Given the description of an element on the screen output the (x, y) to click on. 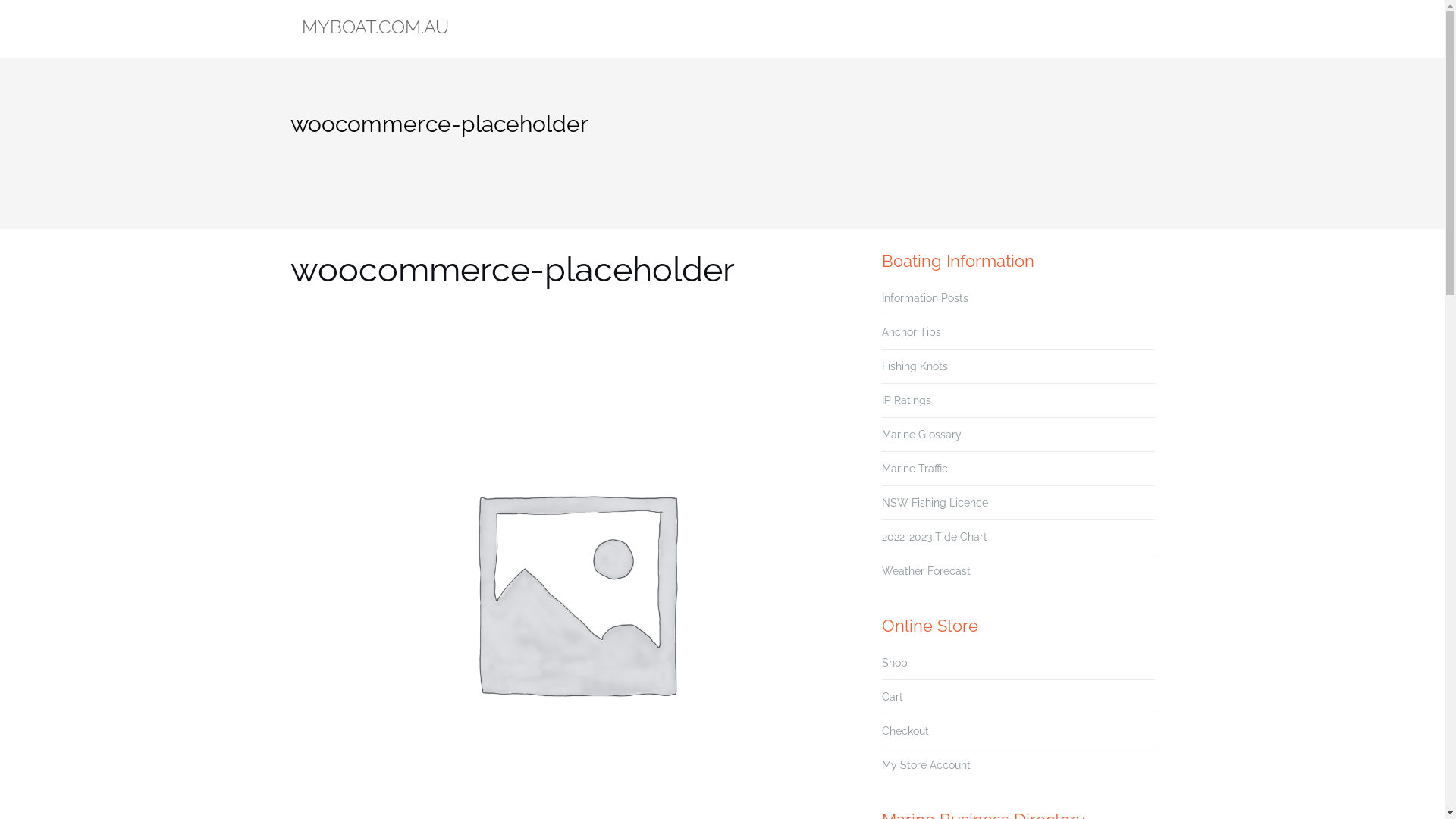
Information Posts Element type: text (924, 297)
2022-2023 Tide Chart Element type: text (933, 536)
Weather Forecast Element type: text (925, 570)
MYBOAT.COM.AU Element type: text (374, 28)
Marine Traffic Element type: text (914, 468)
Checkout Element type: text (904, 730)
Cart Element type: text (891, 696)
My Store Account Element type: text (925, 765)
Anchor Tips Element type: text (910, 332)
IP Ratings Element type: text (905, 400)
Shop Element type: text (893, 662)
Marine Glossary Element type: text (920, 434)
Fishing Knots Element type: text (914, 366)
NSW Fishing Licence Element type: text (934, 502)
